Given the description of an element on the screen output the (x, y) to click on. 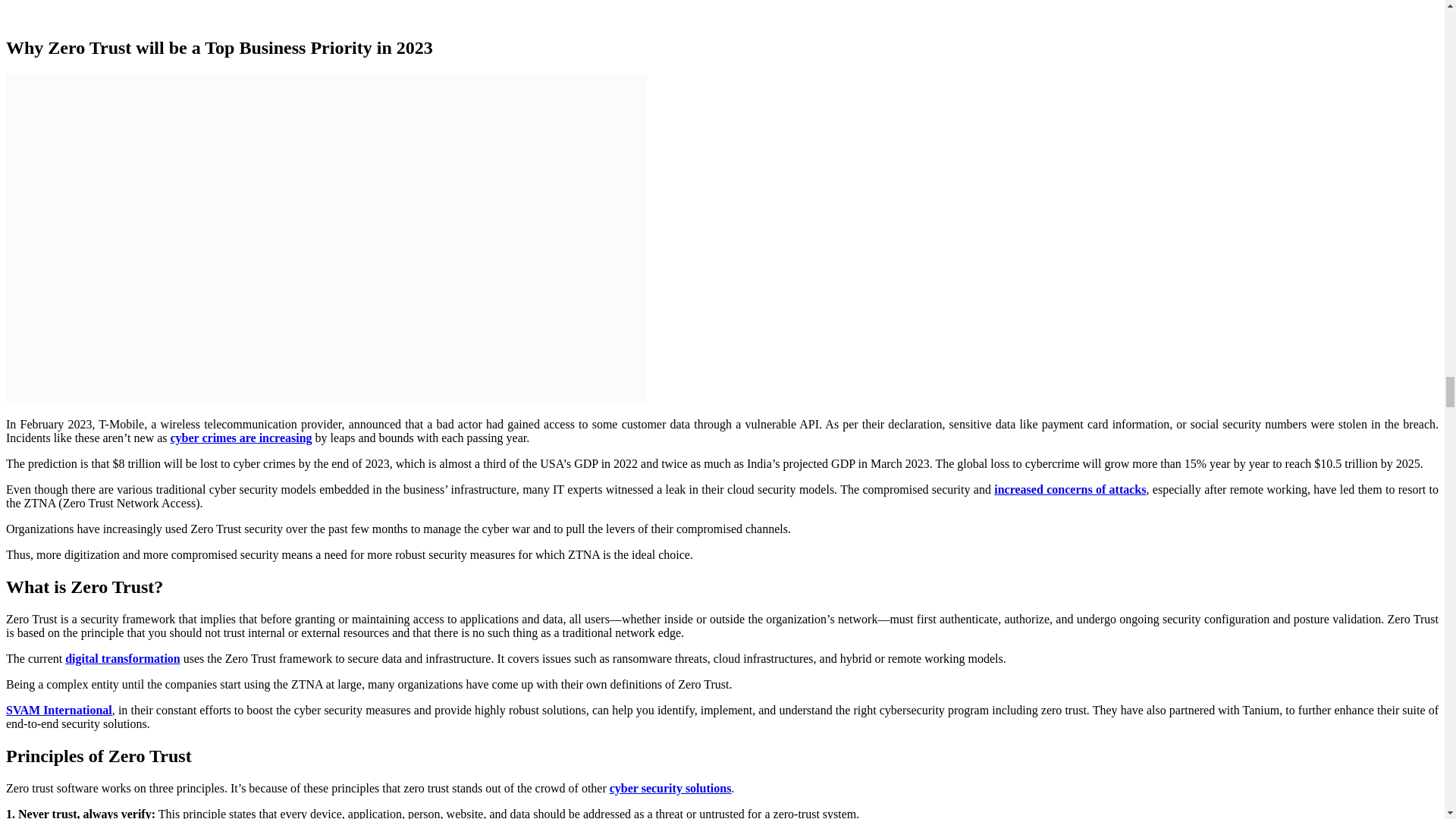
SVAM International (58, 709)
digital transformation (122, 658)
cyber crimes are increasing (241, 437)
increased concerns of attacks (1069, 489)
cyber security solutions (671, 788)
